Given the description of an element on the screen output the (x, y) to click on. 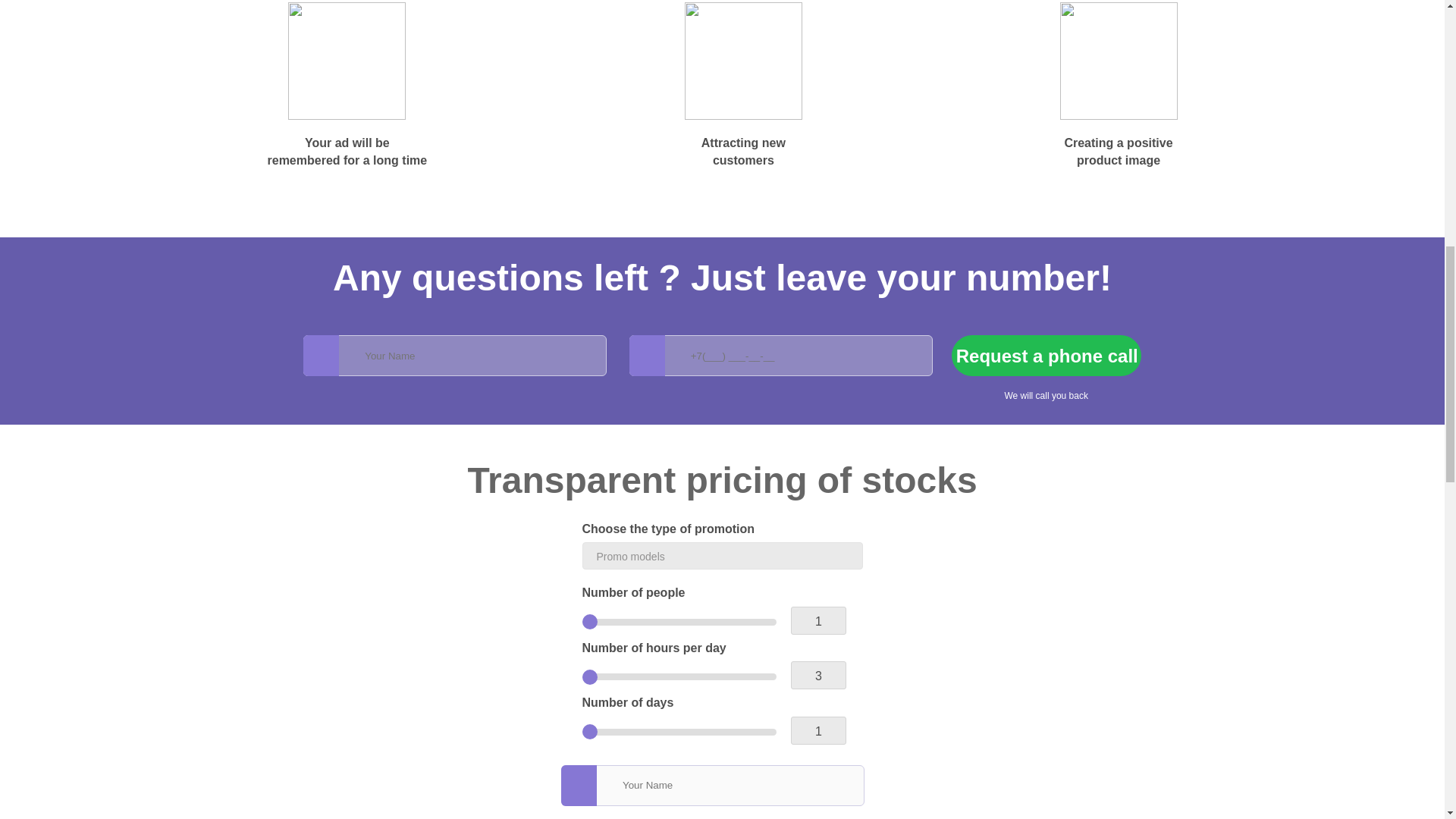
Your Name (454, 354)
Request a phone call (1046, 354)
1 (679, 731)
1 (679, 622)
Your Name (712, 784)
3 (679, 676)
